Given the description of an element on the screen output the (x, y) to click on. 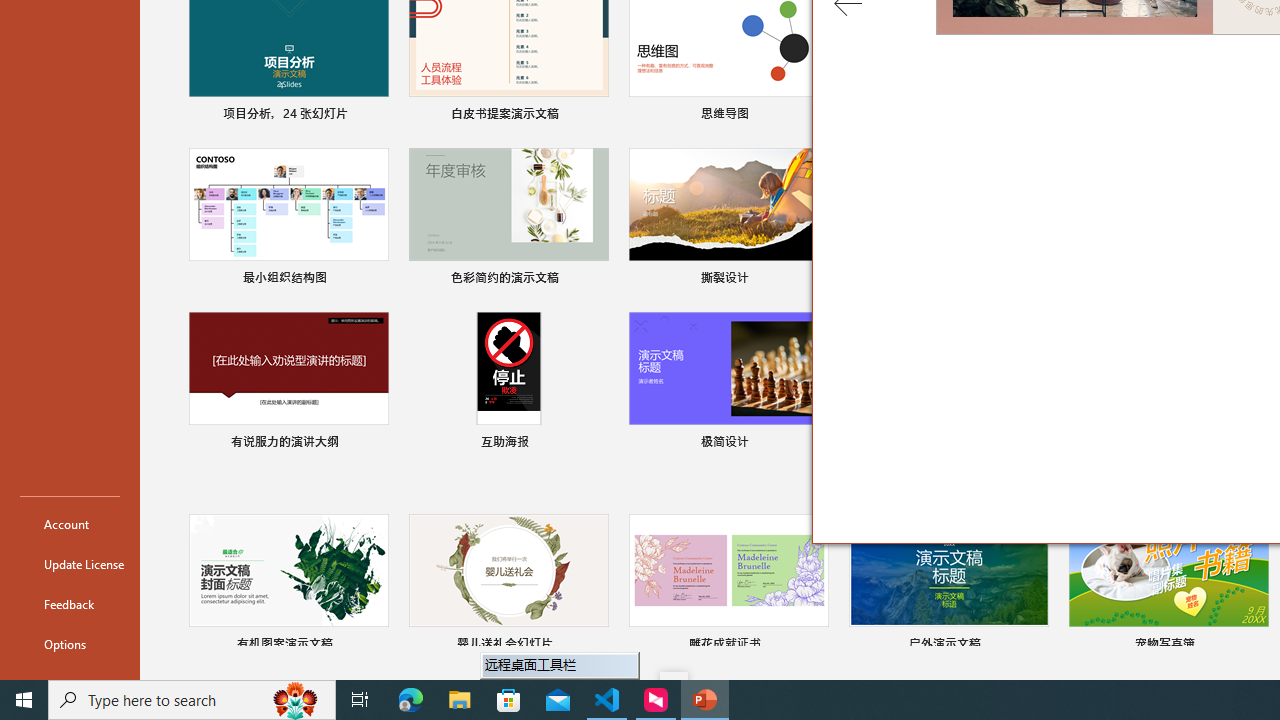
Feedback (69, 603)
Update License (69, 563)
